Given the description of an element on the screen output the (x, y) to click on. 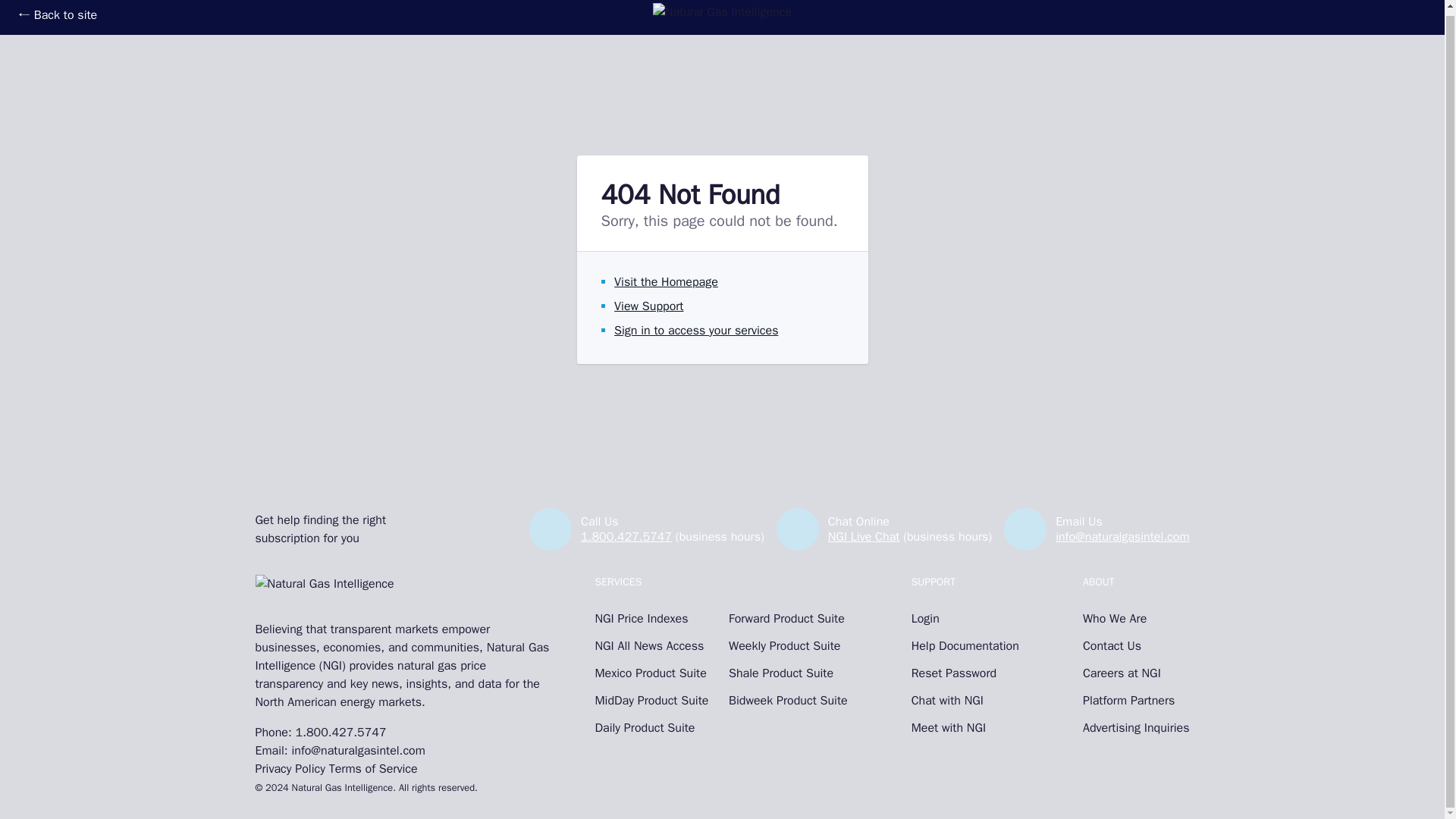
NGI Live Chat (863, 536)
Sign in to access your services (695, 330)
Chat with NGI (965, 700)
Mexico Product Suite (653, 673)
Reset Password (965, 673)
Platform Partners (1136, 700)
Who We Are (1136, 618)
View Support (648, 305)
Bidweek Product Suite (788, 700)
Advertising Inquiries (1136, 728)
